Given the description of an element on the screen output the (x, y) to click on. 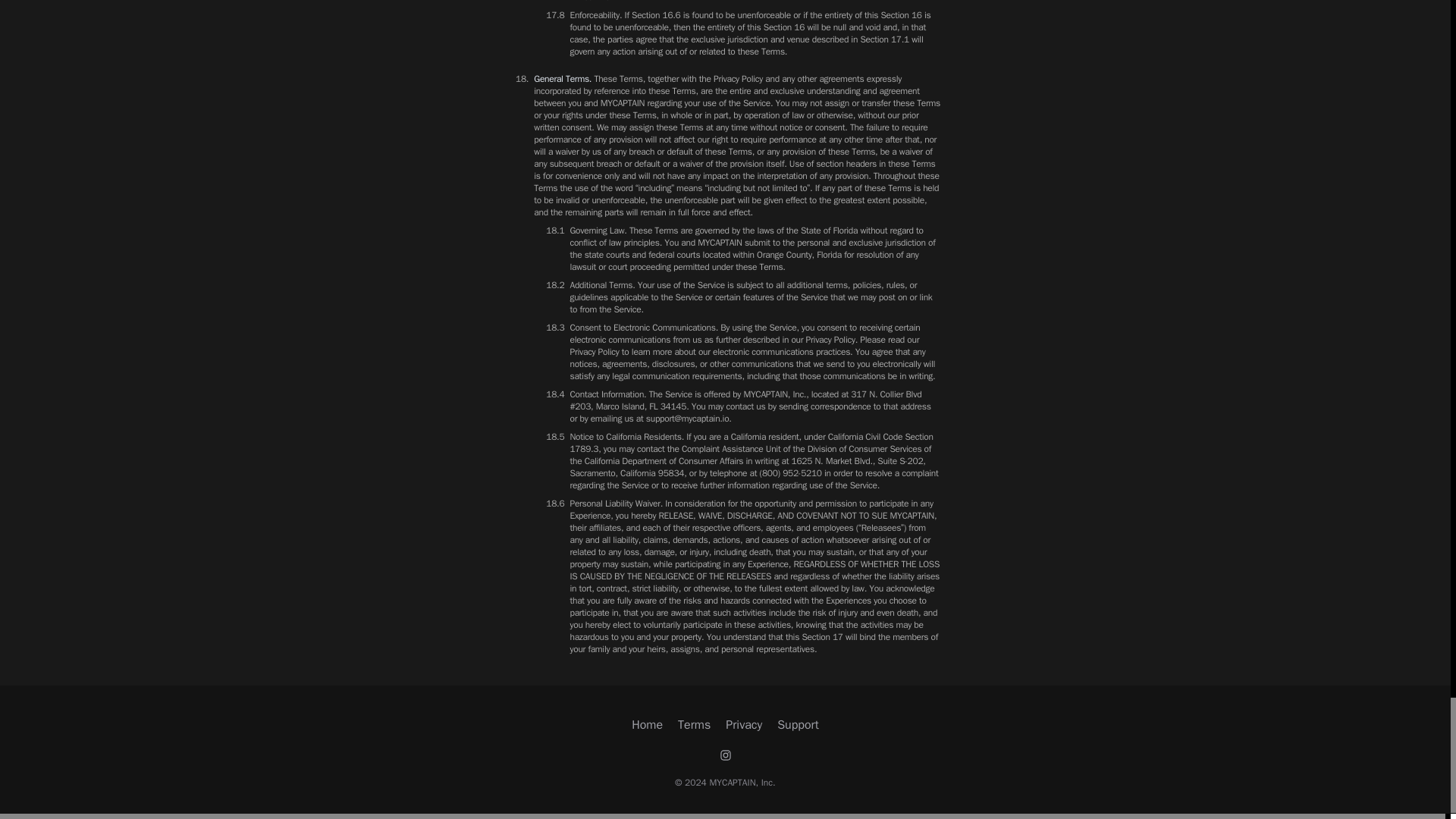
Support (797, 724)
Privacy (743, 724)
Instagram (724, 755)
Terms (694, 724)
Home (646, 724)
